Given the description of an element on the screen output the (x, y) to click on. 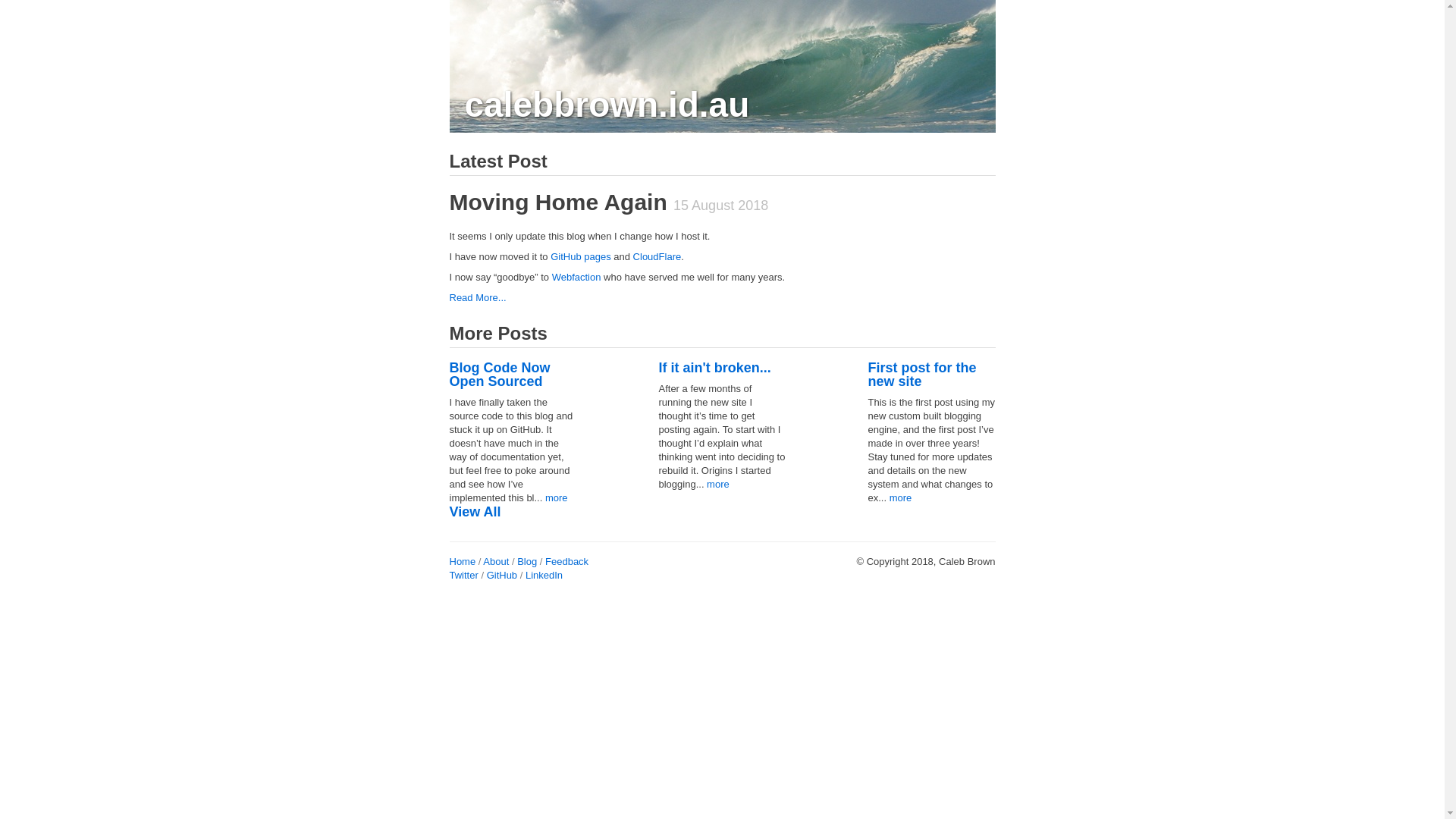
Read More... Element type: text (476, 297)
Blog Element type: text (526, 561)
more Element type: text (717, 483)
First post for the new site Element type: text (921, 374)
LinkedIn Element type: text (543, 574)
calebbrown.id.au Element type: text (606, 104)
Twitter Element type: text (462, 574)
CloudFlare Element type: text (657, 256)
more Element type: text (556, 497)
Moving Home Again Element type: text (557, 201)
GitHub Element type: text (501, 574)
Feedback Element type: text (566, 561)
Webfaction Element type: text (576, 276)
View All Element type: text (474, 511)
GitHub pages Element type: text (580, 256)
About Element type: text (495, 561)
If it ain't broken... Element type: text (714, 367)
more Element type: text (900, 497)
Home Element type: text (461, 561)
Blog Code Now Open Sourced Element type: text (498, 374)
